Given the description of an element on the screen output the (x, y) to click on. 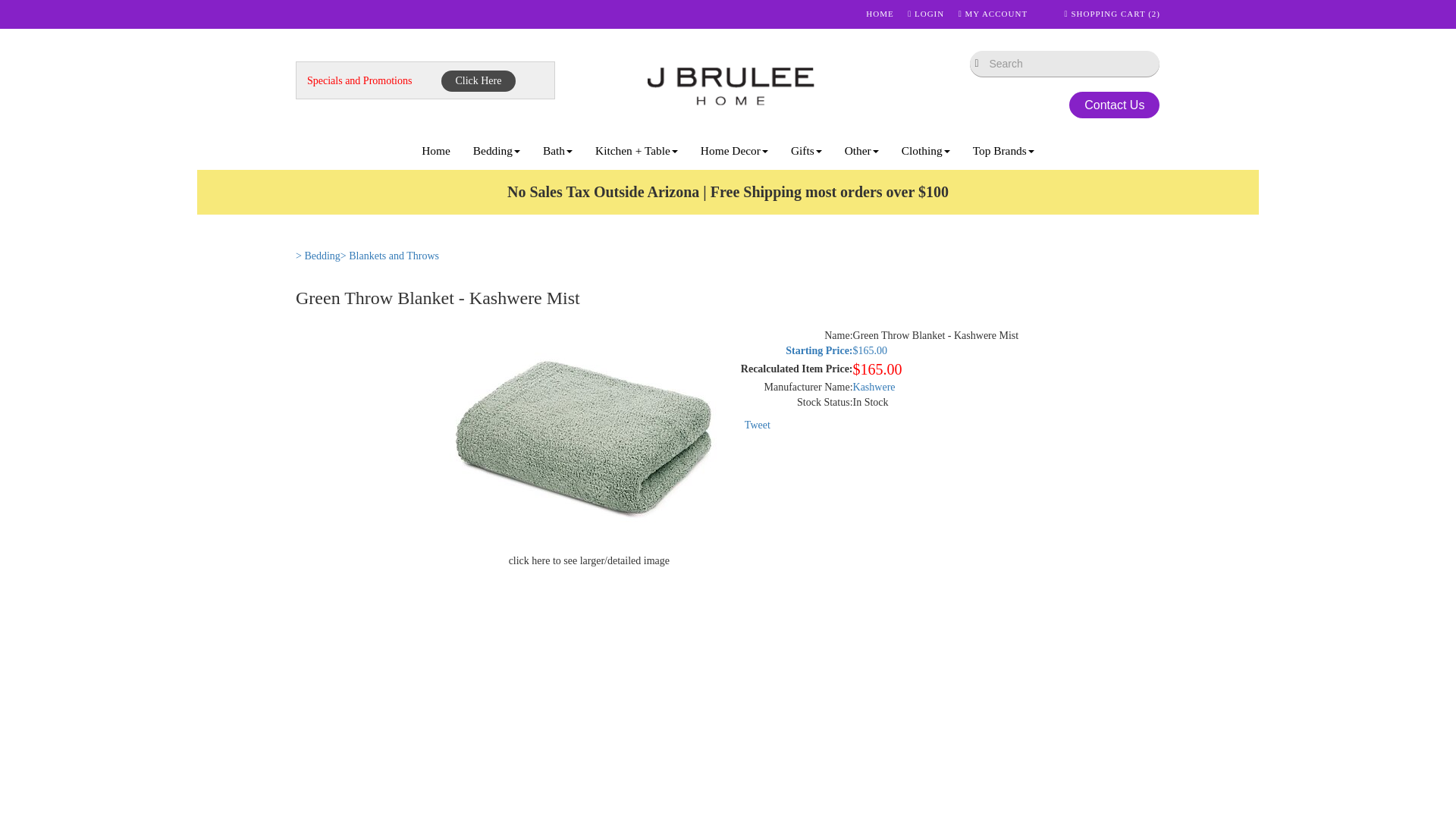
Green Throw Blanket - Kashwere Mist (589, 440)
MY ACCOUNT (992, 13)
HOME (879, 13)
Home (435, 150)
Contact Us (1113, 104)
Bedding (496, 150)
Click Here (478, 80)
LOGIN (925, 13)
